Given the description of an element on the screen output the (x, y) to click on. 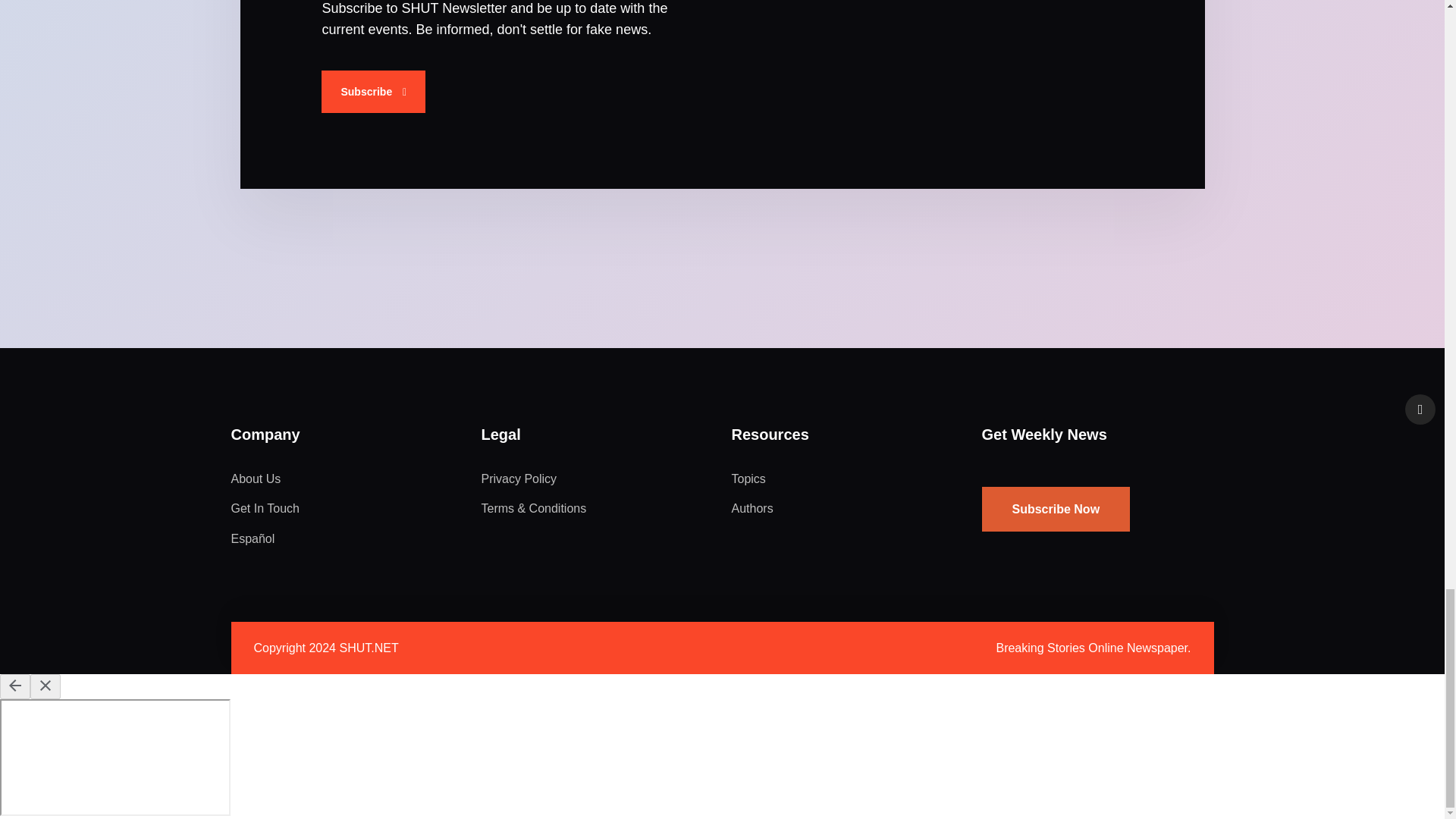
Privacy Policy (518, 478)
About Us (255, 478)
Get In Touch (264, 508)
Topics (747, 478)
Subscribe (373, 91)
